Given the description of an element on the screen output the (x, y) to click on. 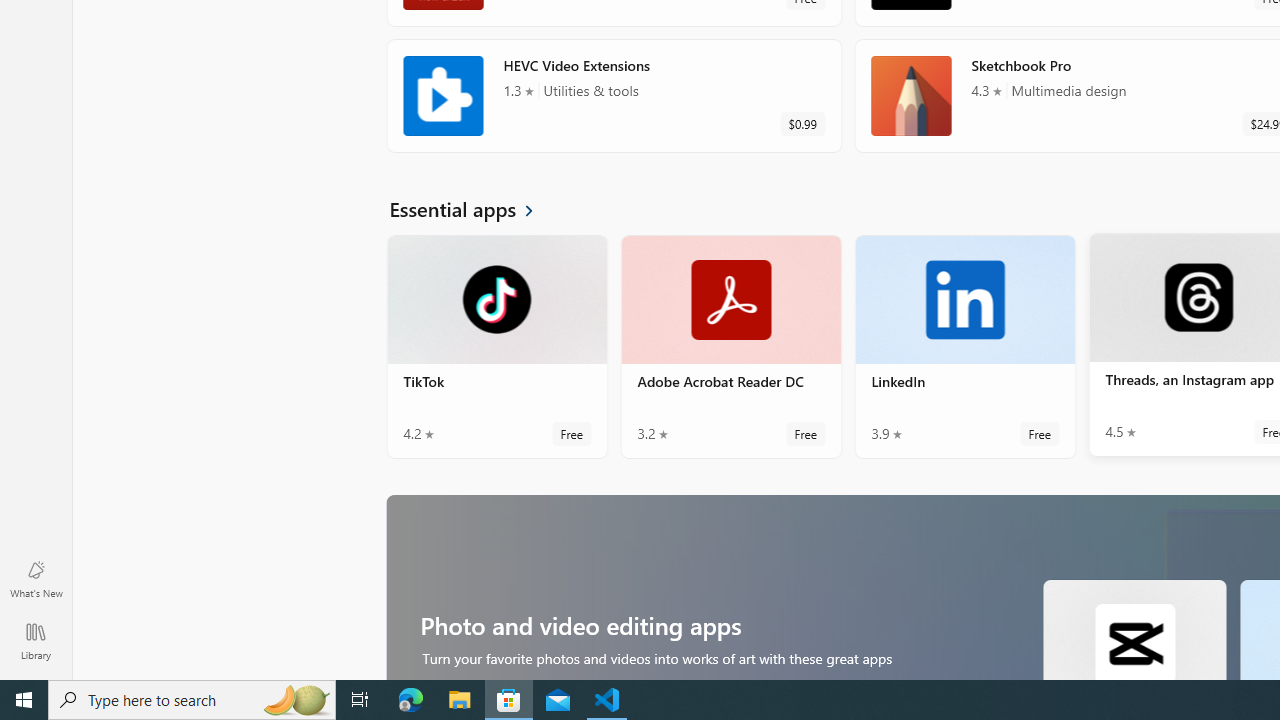
iTunes. Average rating of 2.5 out of five stars. Free   (614, 79)
What's New (35, 578)
WhatsApp. Average rating of 4.3 out of five stars. Free   (614, 205)
Library (35, 640)
Nebo. Average rating of 4.1 out of five stars. $9.99   (964, 456)
See all  Productivity apps (488, 318)
